Given the description of an element on the screen output the (x, y) to click on. 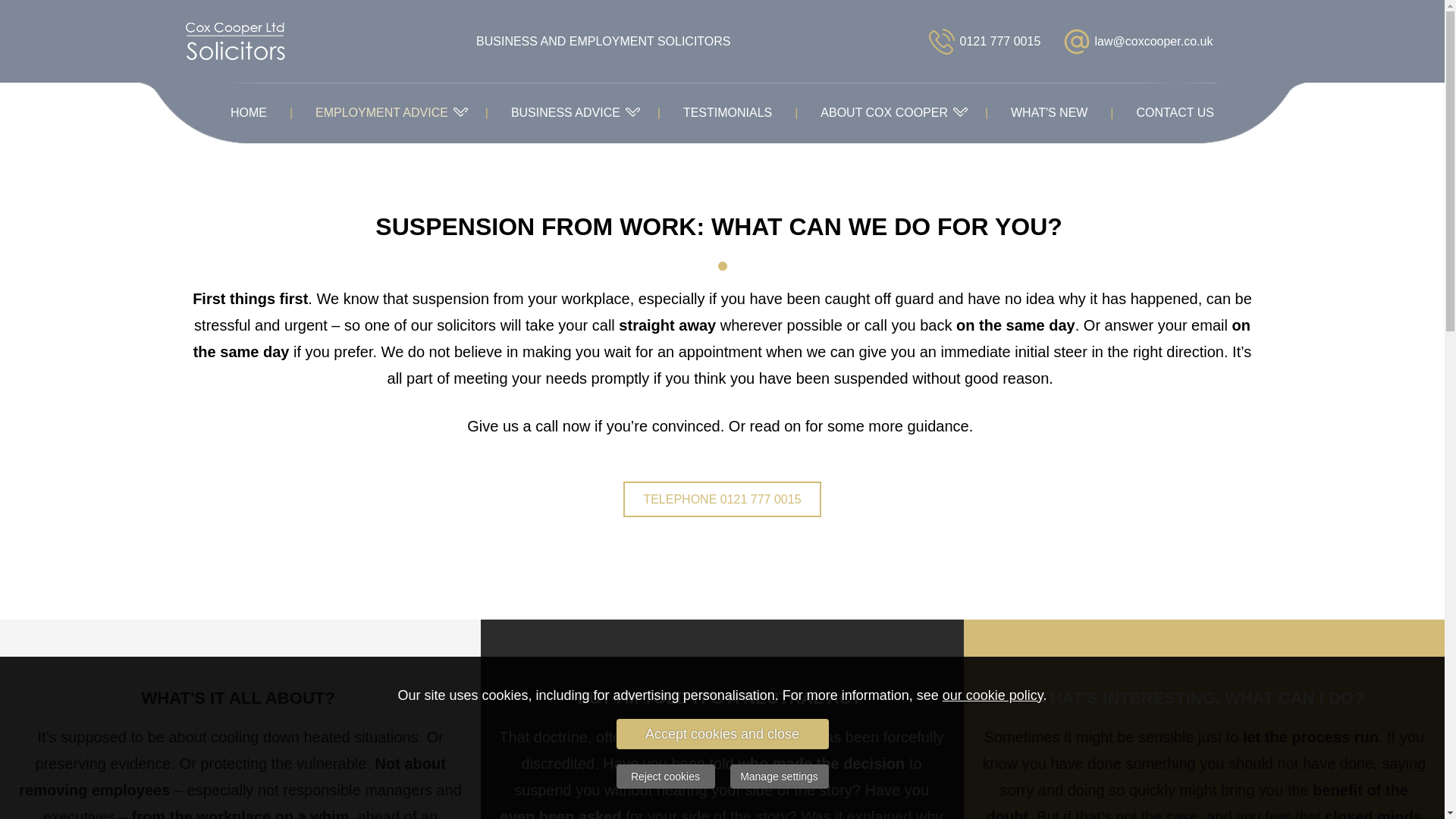
HOME (248, 112)
TELEPHONE 0121 777 0015 (722, 498)
WHAT'S NEW (1048, 112)
TESTIMONIALS (727, 112)
CONTACT US (1174, 112)
